Given the description of an element on the screen output the (x, y) to click on. 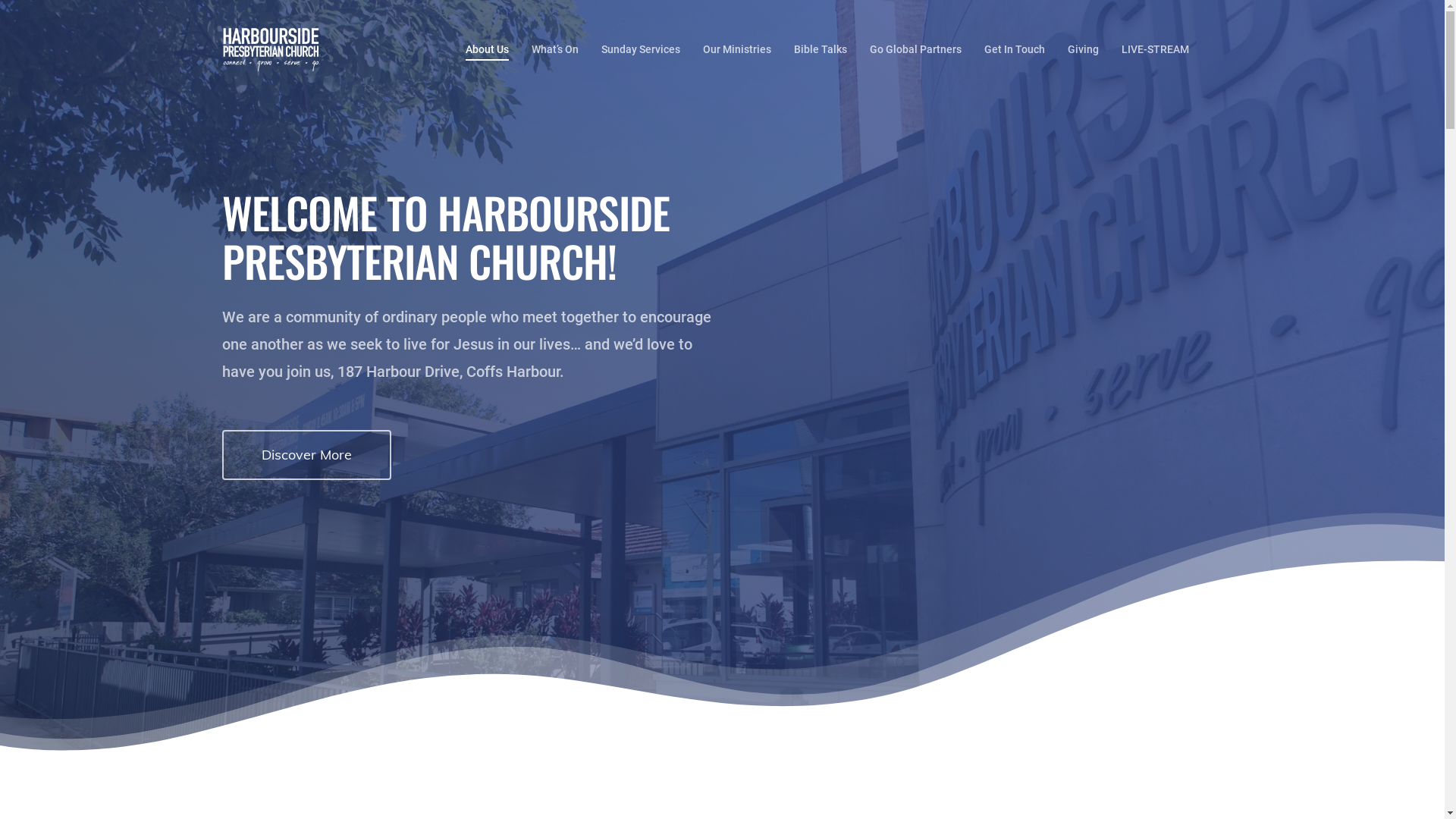
About Us Element type: text (486, 49)
Go Global Partners Element type: text (914, 49)
Get In Touch Element type: text (1014, 49)
Discover More Element type: text (305, 454)
Our Ministries Element type: text (736, 49)
Bible Talks Element type: text (819, 49)
Giving Element type: text (1082, 49)
LIVE-STREAM Element type: text (1154, 49)
Sunday Services Element type: text (639, 49)
